Given the description of an element on the screen output the (x, y) to click on. 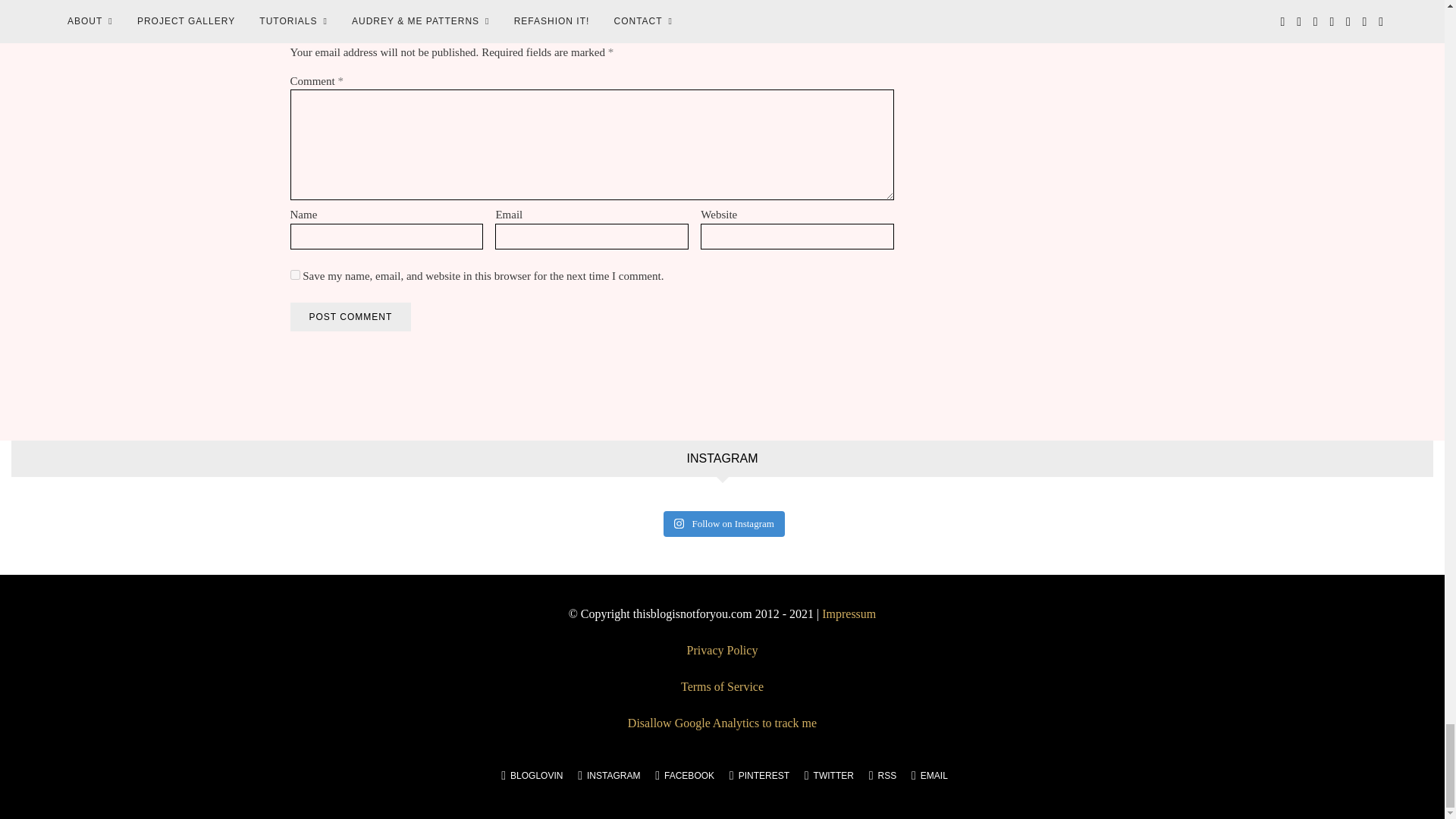
yes (294, 275)
Post Comment (349, 316)
